Given the description of an element on the screen output the (x, y) to click on. 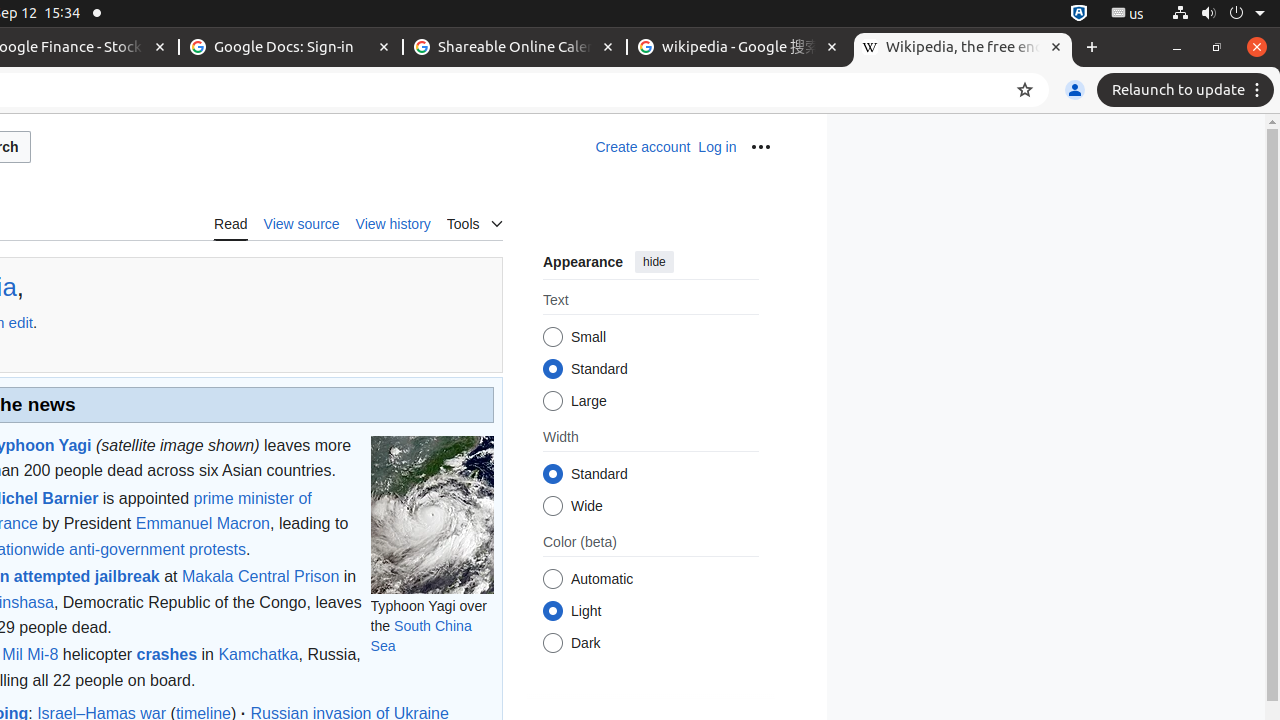
Typhoon Yagi over the South China Sea Element type: link (432, 514)
Dark Element type: radio-button (552, 643)
Small Element type: radio-button (552, 337)
Kamchatka Element type: link (258, 655)
Log in Element type: link (717, 147)
